Given the description of an element on the screen output the (x, y) to click on. 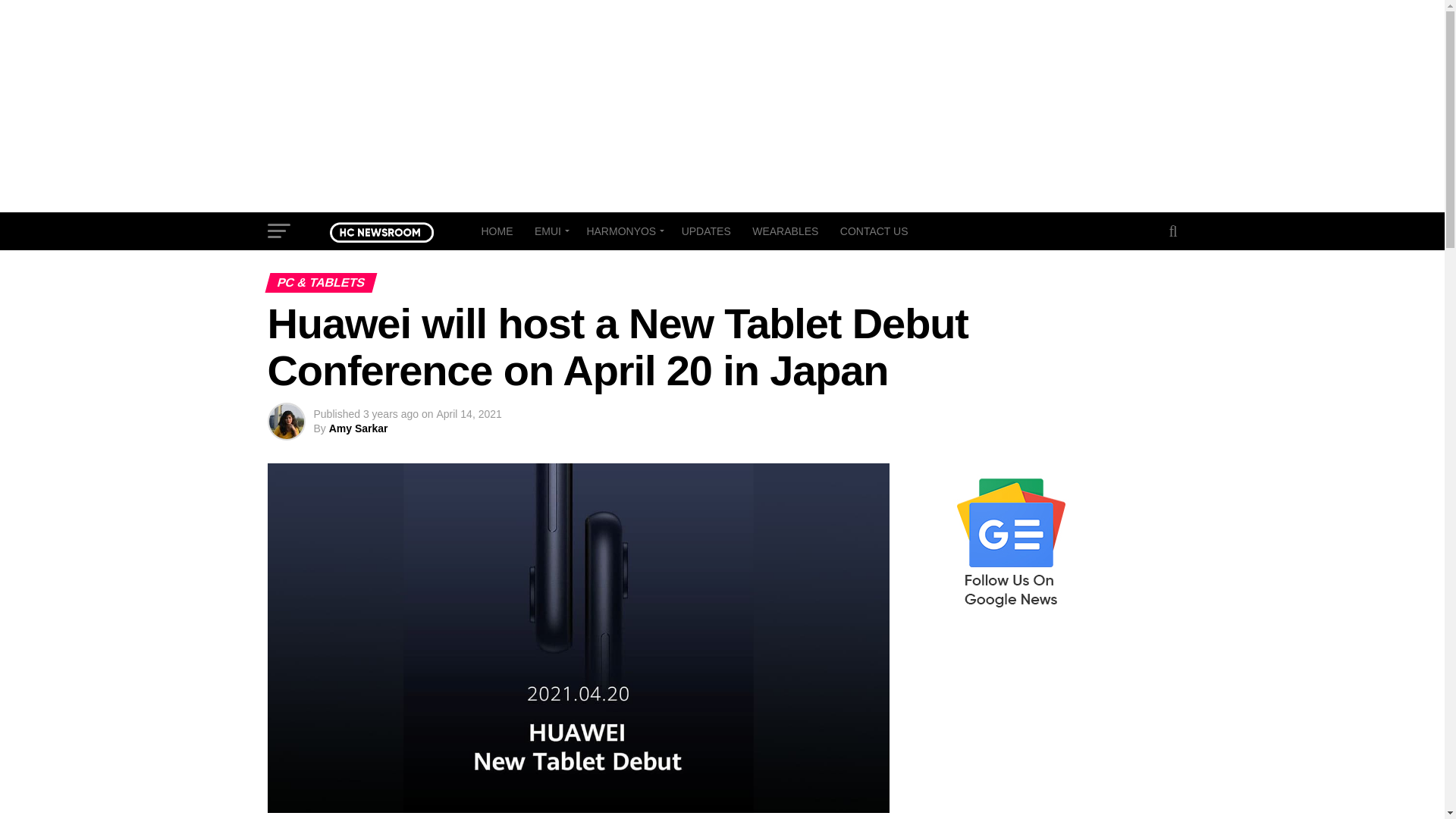
HARMONYOS (622, 231)
EMUI (549, 231)
Posts by Amy Sarkar (358, 428)
HOME (496, 231)
UPDATES (705, 231)
